Given the description of an element on the screen output the (x, y) to click on. 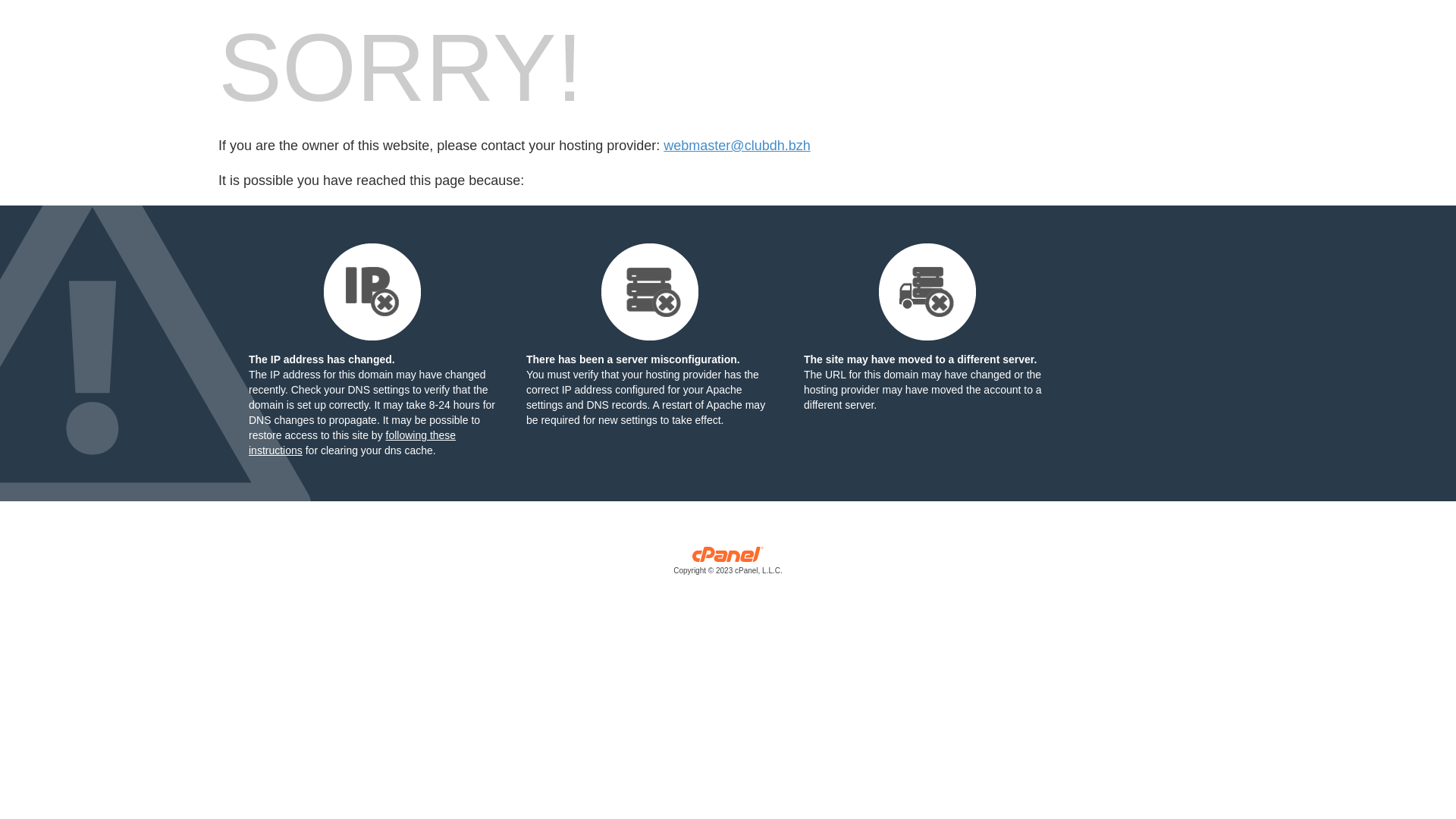
webmaster@clubdh.bzh Element type: text (736, 145)
following these instructions Element type: text (351, 442)
